Given the description of an element on the screen output the (x, y) to click on. 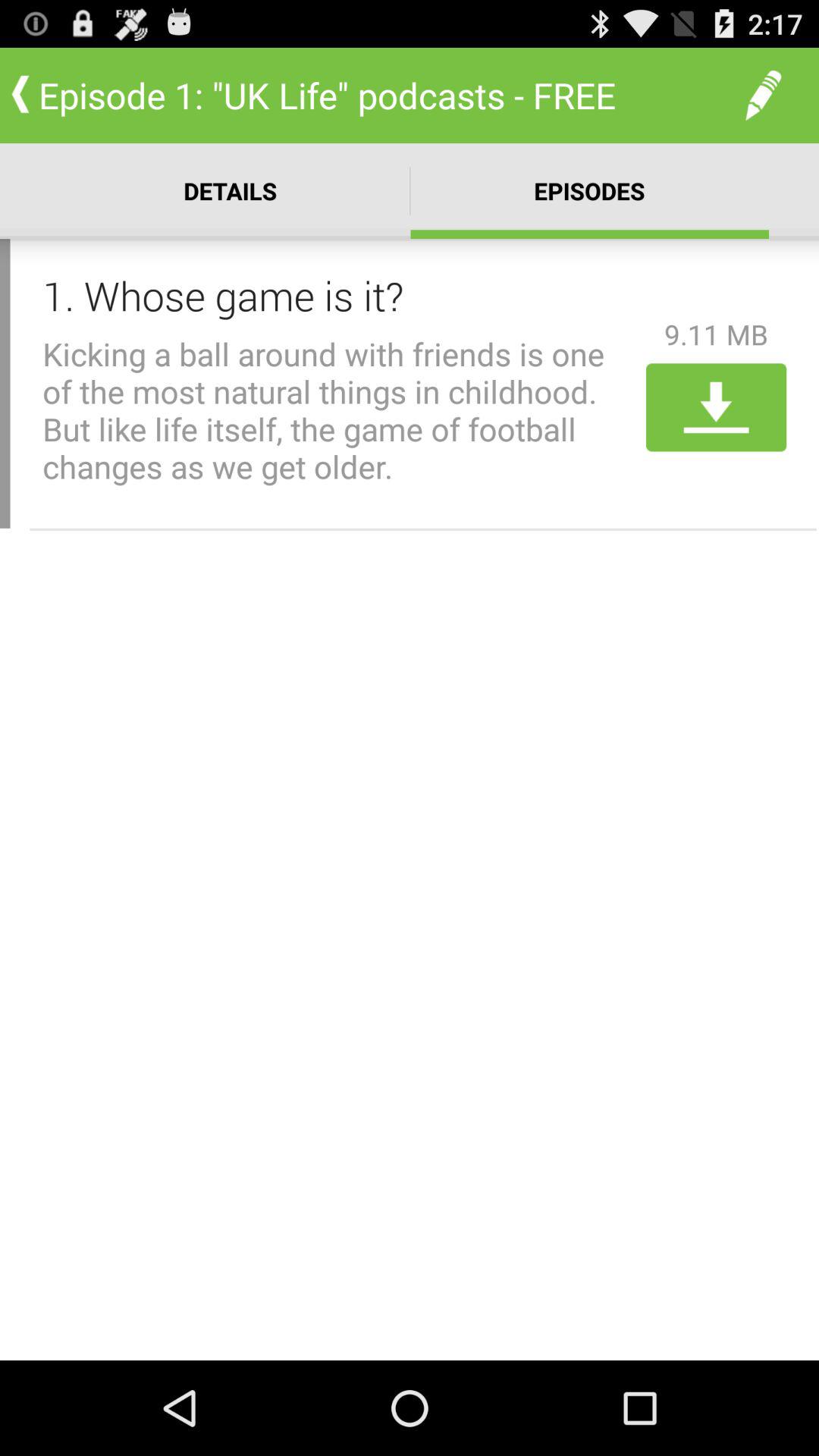
select the app next to episode 1 uk app (763, 95)
